Given the description of an element on the screen output the (x, y) to click on. 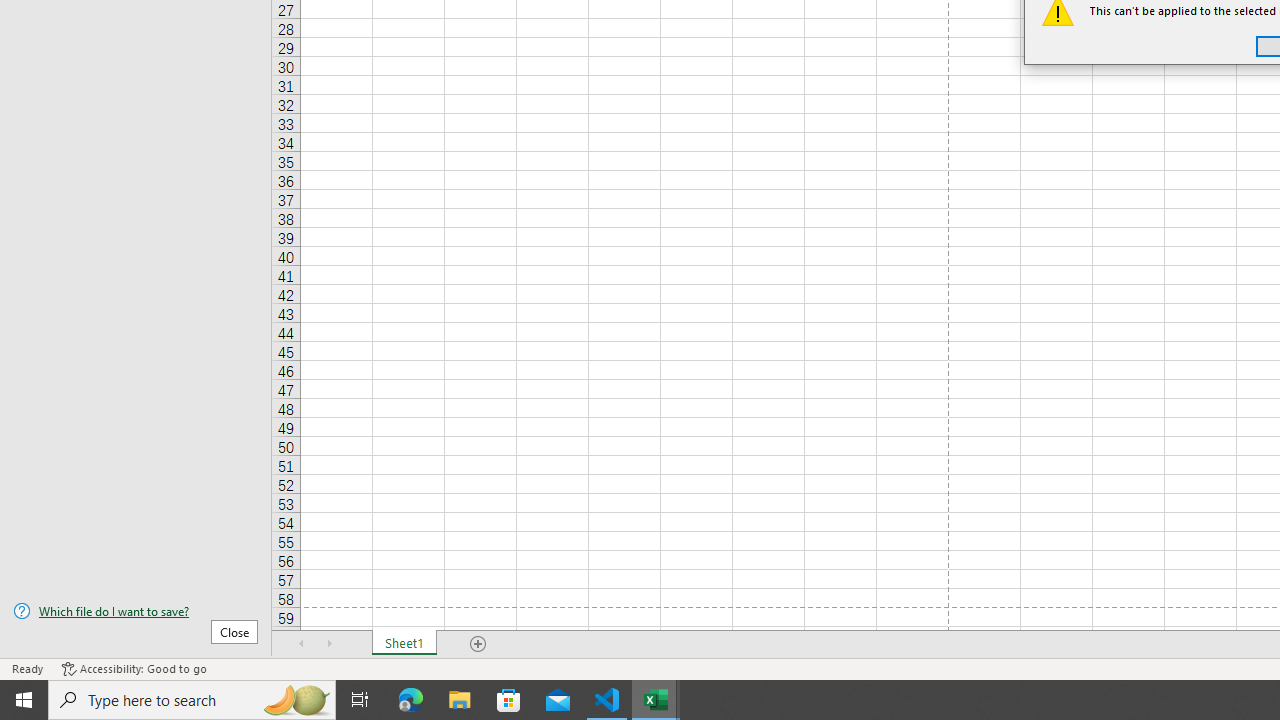
Accessibility Checker Accessibility: Good to go (134, 668)
Close (234, 631)
